Given the description of an element on the screen output the (x, y) to click on. 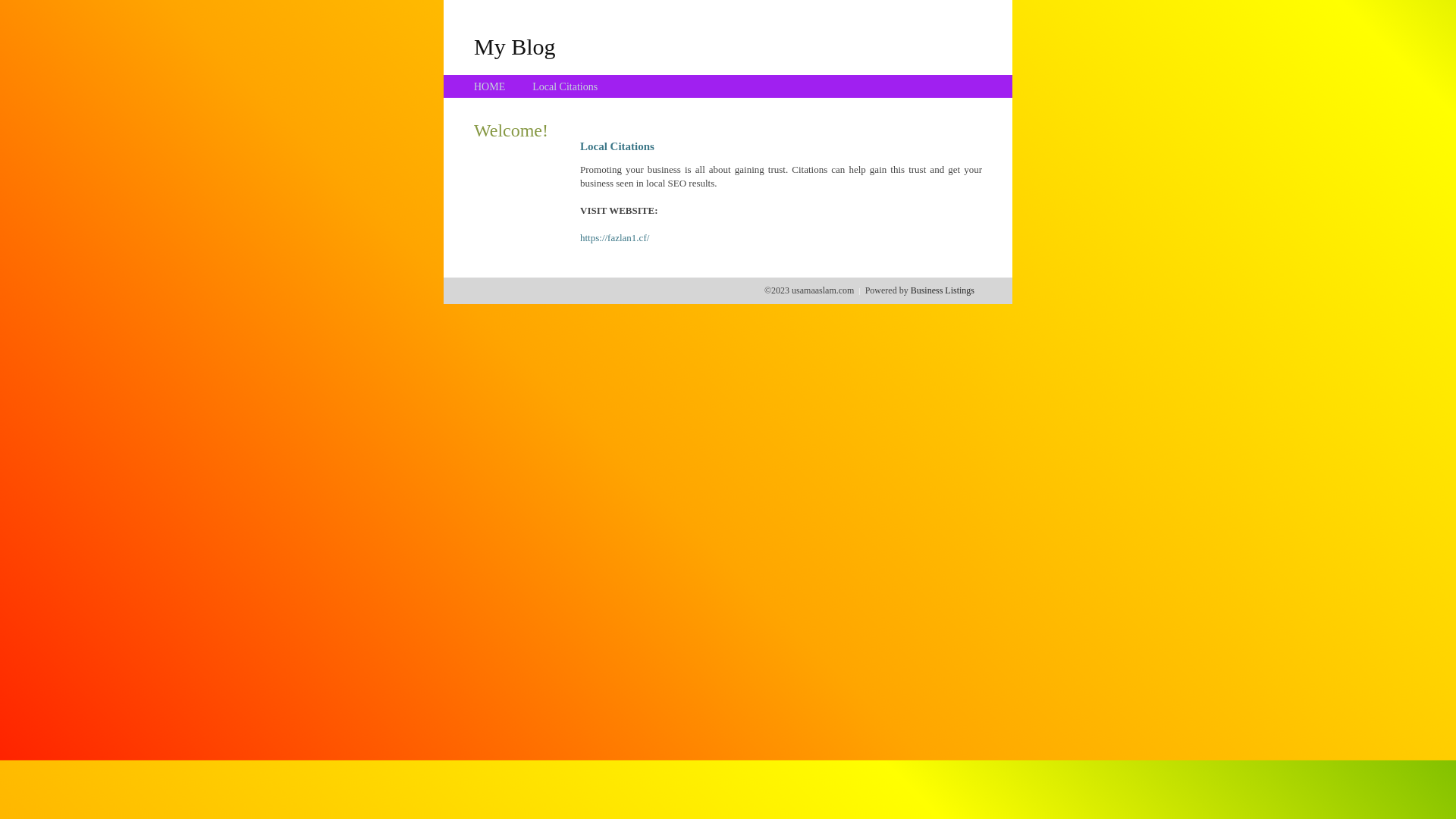
https://fazlan1.cf/ Element type: text (614, 237)
HOME Element type: text (489, 86)
My Blog Element type: text (514, 46)
Business Listings Element type: text (942, 290)
Local Citations Element type: text (564, 86)
